Given the description of an element on the screen output the (x, y) to click on. 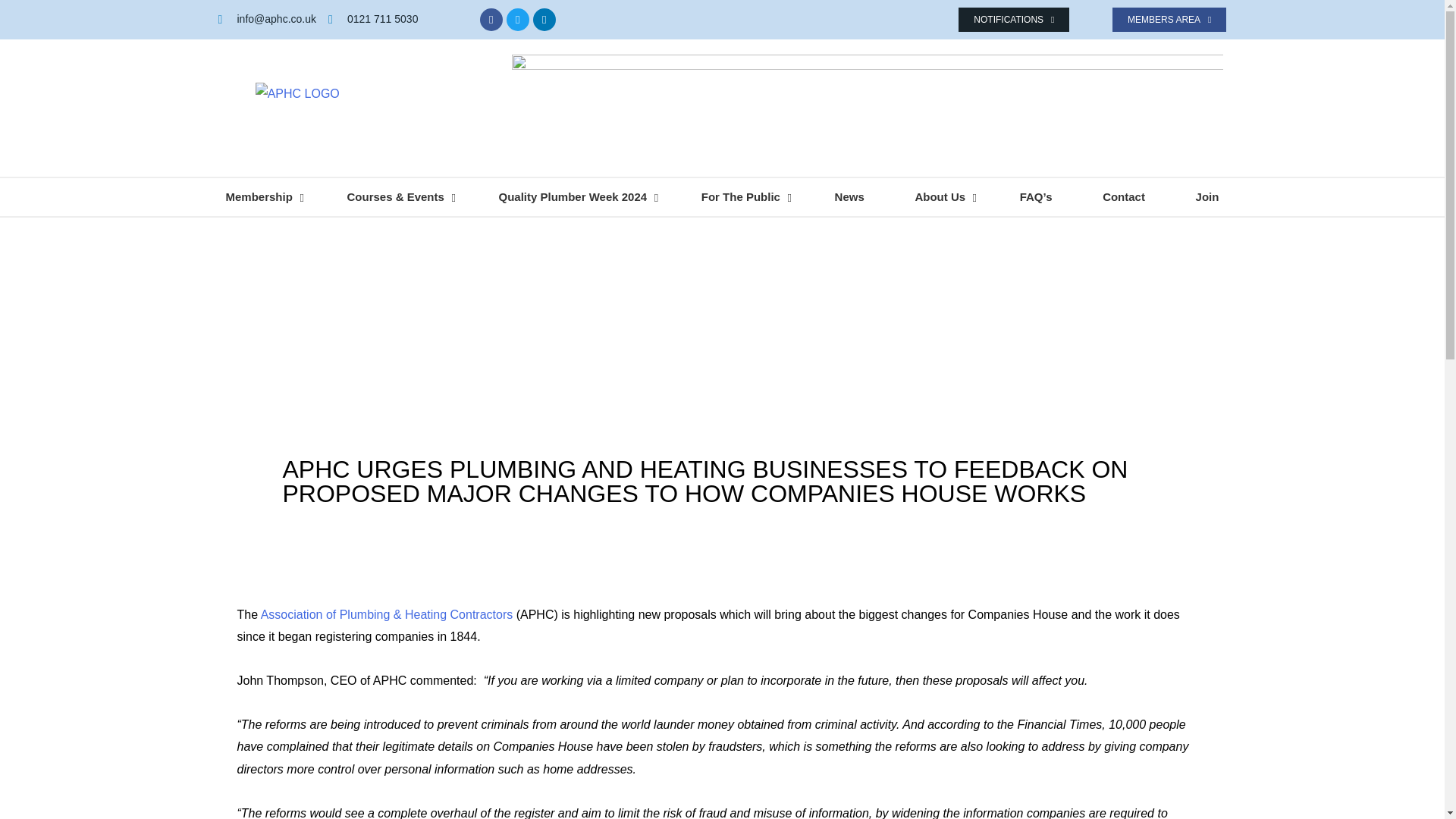
APHC (386, 614)
Membership (261, 197)
Twitter (517, 19)
MEMBERS AREA (1168, 19)
Quality Plumber Week 2024 (574, 197)
APHC-Limited-Logo-RGB (297, 107)
Facebook-f (491, 19)
NOTIFICATIONS (1013, 19)
For The Public (742, 197)
Linkedin-in (544, 19)
